Given the description of an element on the screen output the (x, y) to click on. 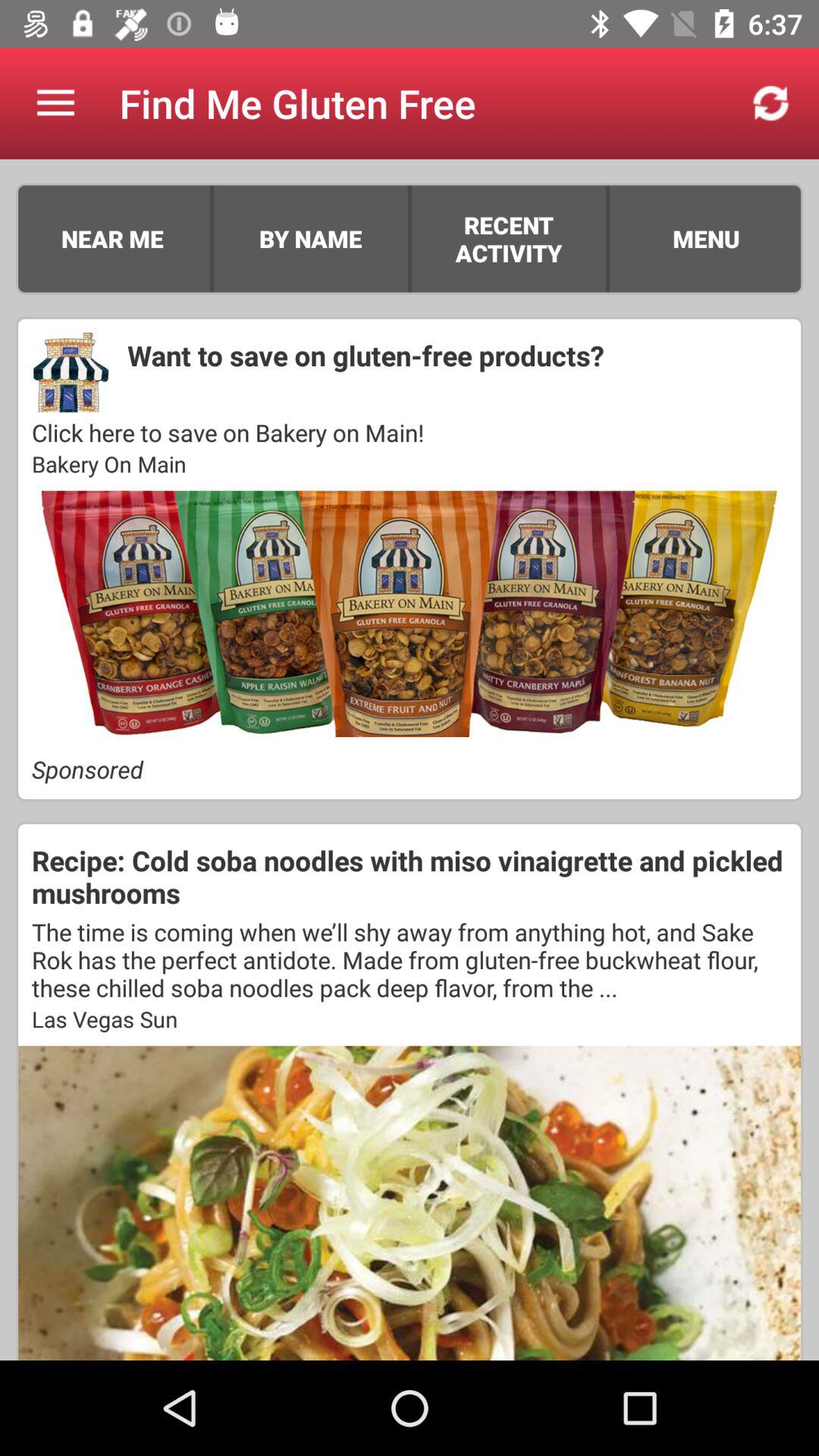
launch item to the right of the by name (409, 238)
